Given the description of an element on the screen output the (x, y) to click on. 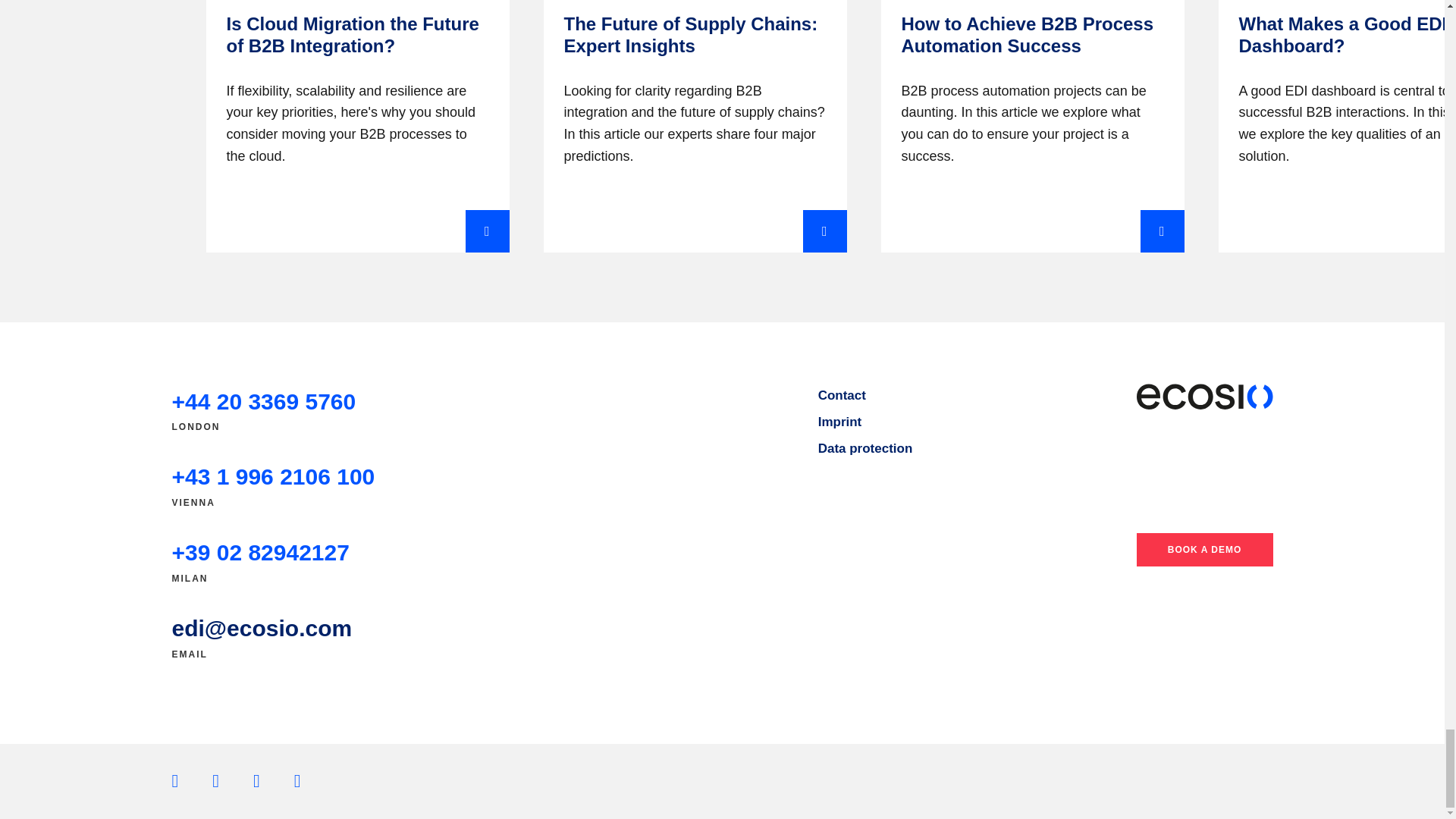
Data protection (865, 448)
Ecosio VIENNA (272, 476)
to the home page (1203, 396)
Contact (842, 395)
Ecosio EMAIL (261, 628)
Ecosio MILAN (260, 552)
Ecosio LONDON (263, 401)
Imprint (839, 422)
